Given the description of an element on the screen output the (x, y) to click on. 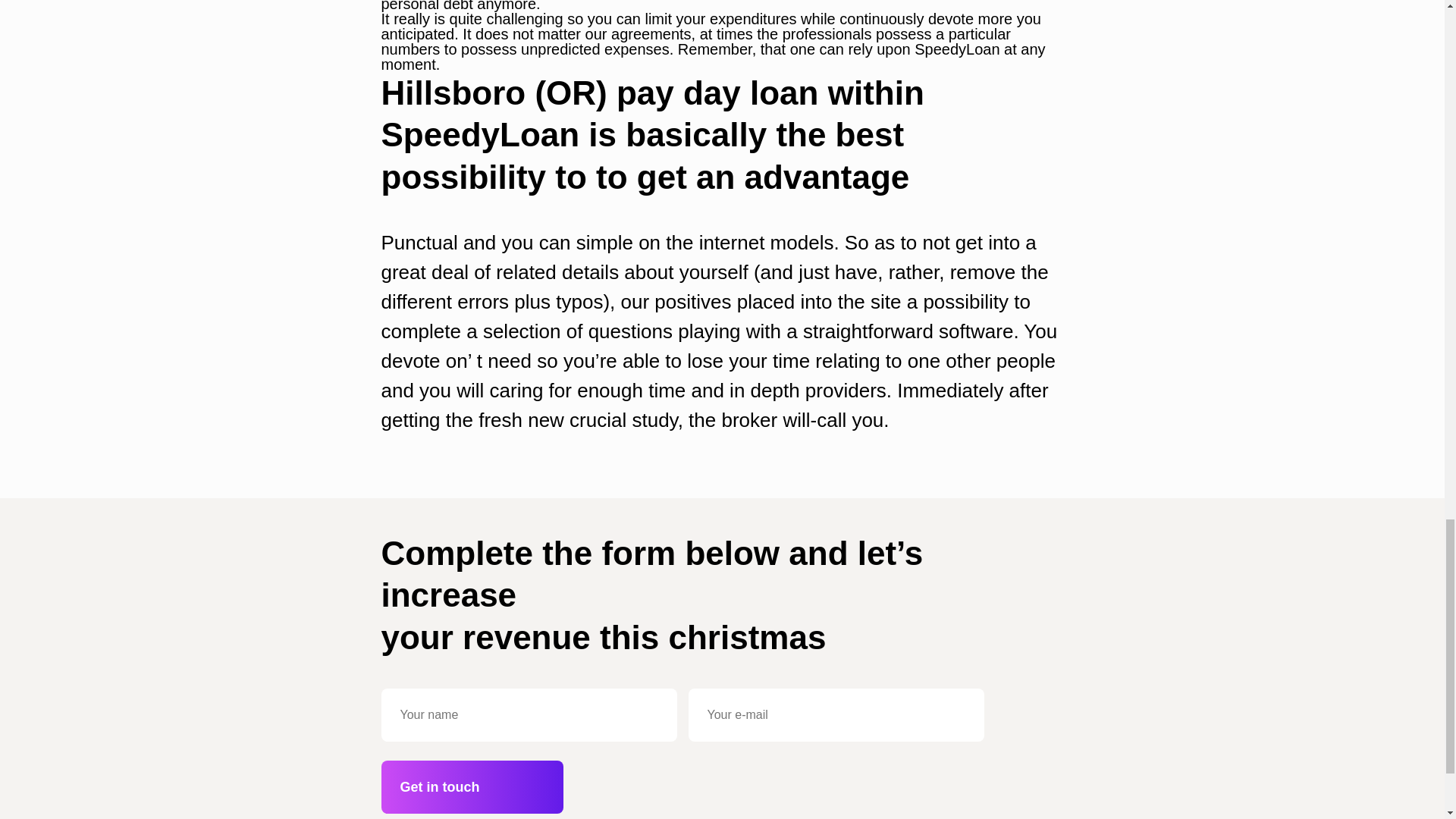
Get in touch (471, 787)
Get in touch (471, 787)
